Given the description of an element on the screen output the (x, y) to click on. 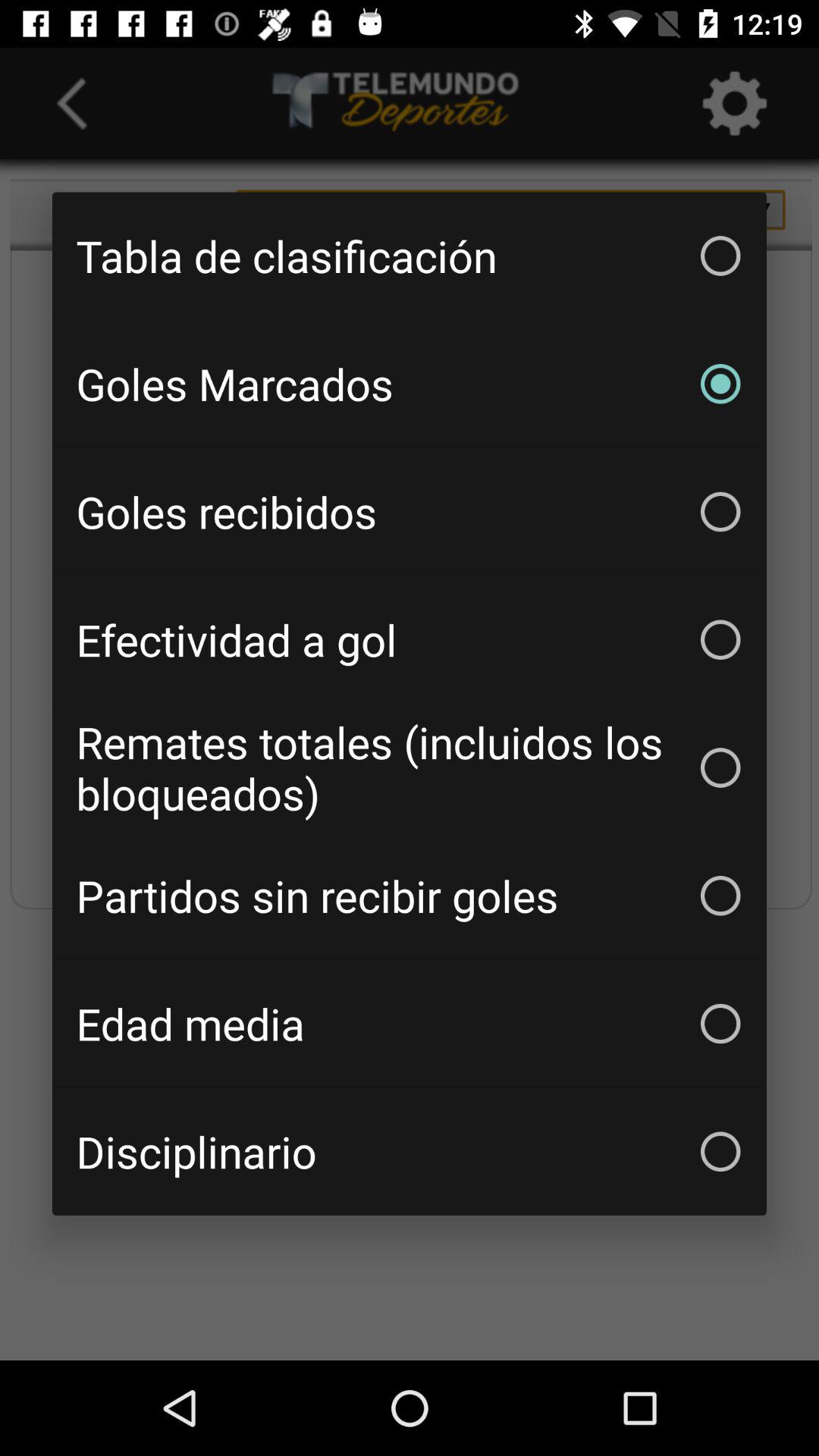
turn off the icon below the efectividad a gol item (409, 767)
